Given the description of an element on the screen output the (x, y) to click on. 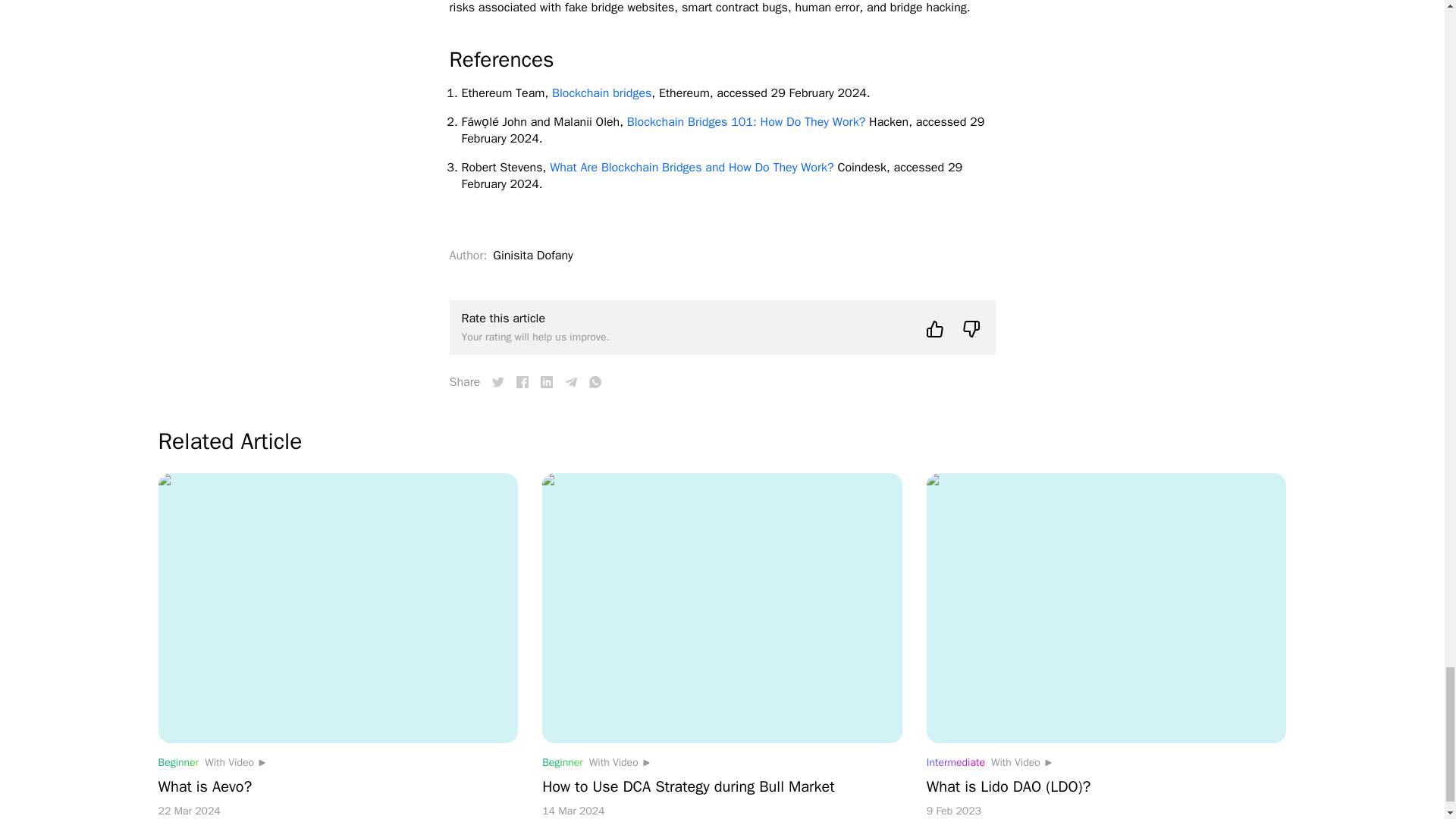
Blockchain bridges (600, 92)
What are Blockchain Bridges? (522, 381)
What Are Blockchain Bridges and How Do They Work? (692, 167)
Blockchain Bridges 101: How Do They Work? (746, 121)
